Given the description of an element on the screen output the (x, y) to click on. 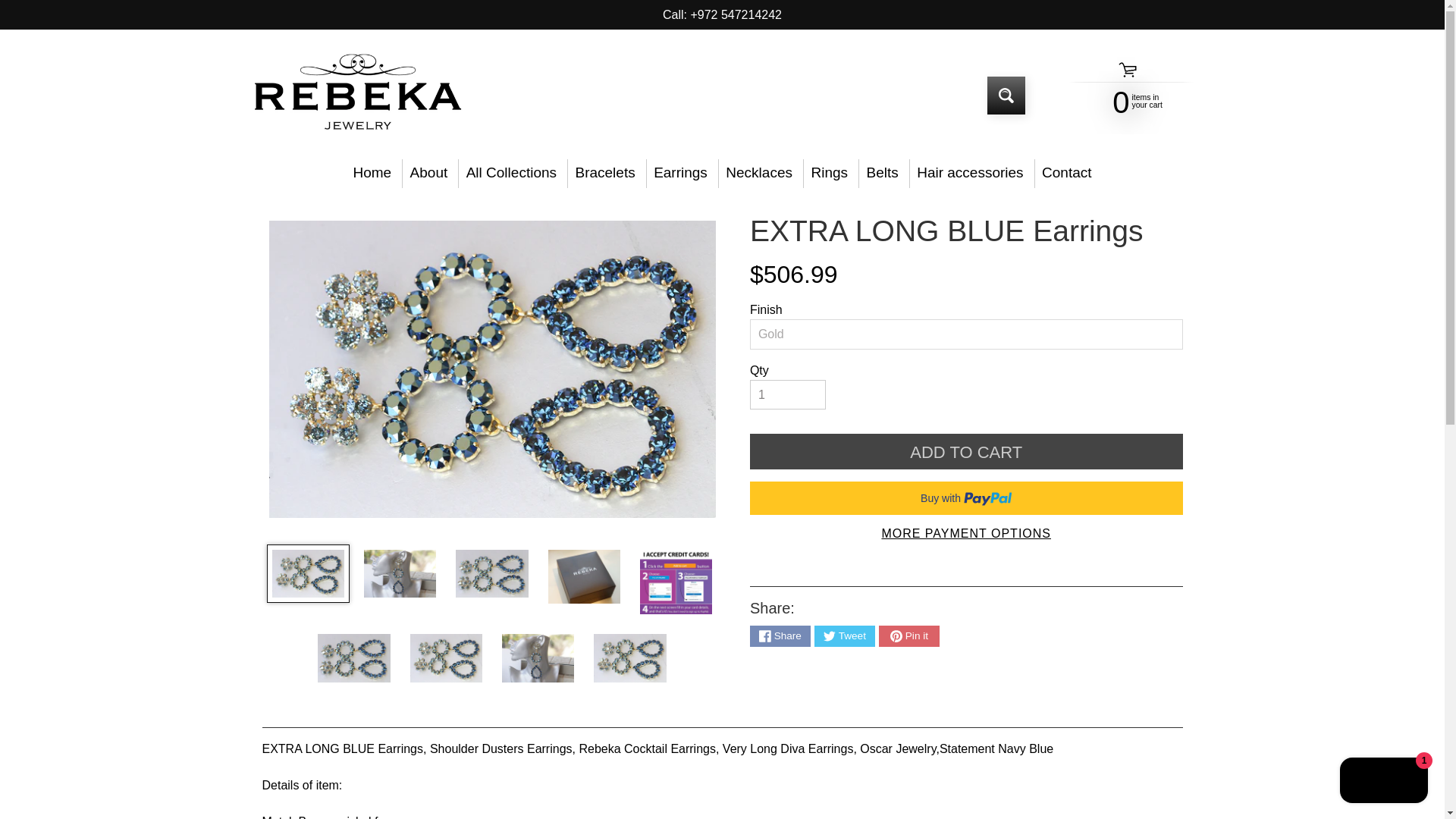
EXTRA LONG BLUE Earrings (629, 657)
Search (1006, 95)
Belts (882, 173)
Contact (1067, 173)
SEARCH (1006, 95)
EXTRA LONG BLUE Earrings (675, 581)
EXTRA LONG BLUE Earrings (445, 657)
Rebekajewelry (356, 95)
EXTRA LONG BLUE Earrings (353, 657)
Earrings (680, 173)
1 (787, 395)
All Collections (510, 173)
Hair accessories (1122, 101)
EXTRA LONG BLUE Earrings (970, 173)
